Given the description of an element on the screen output the (x, y) to click on. 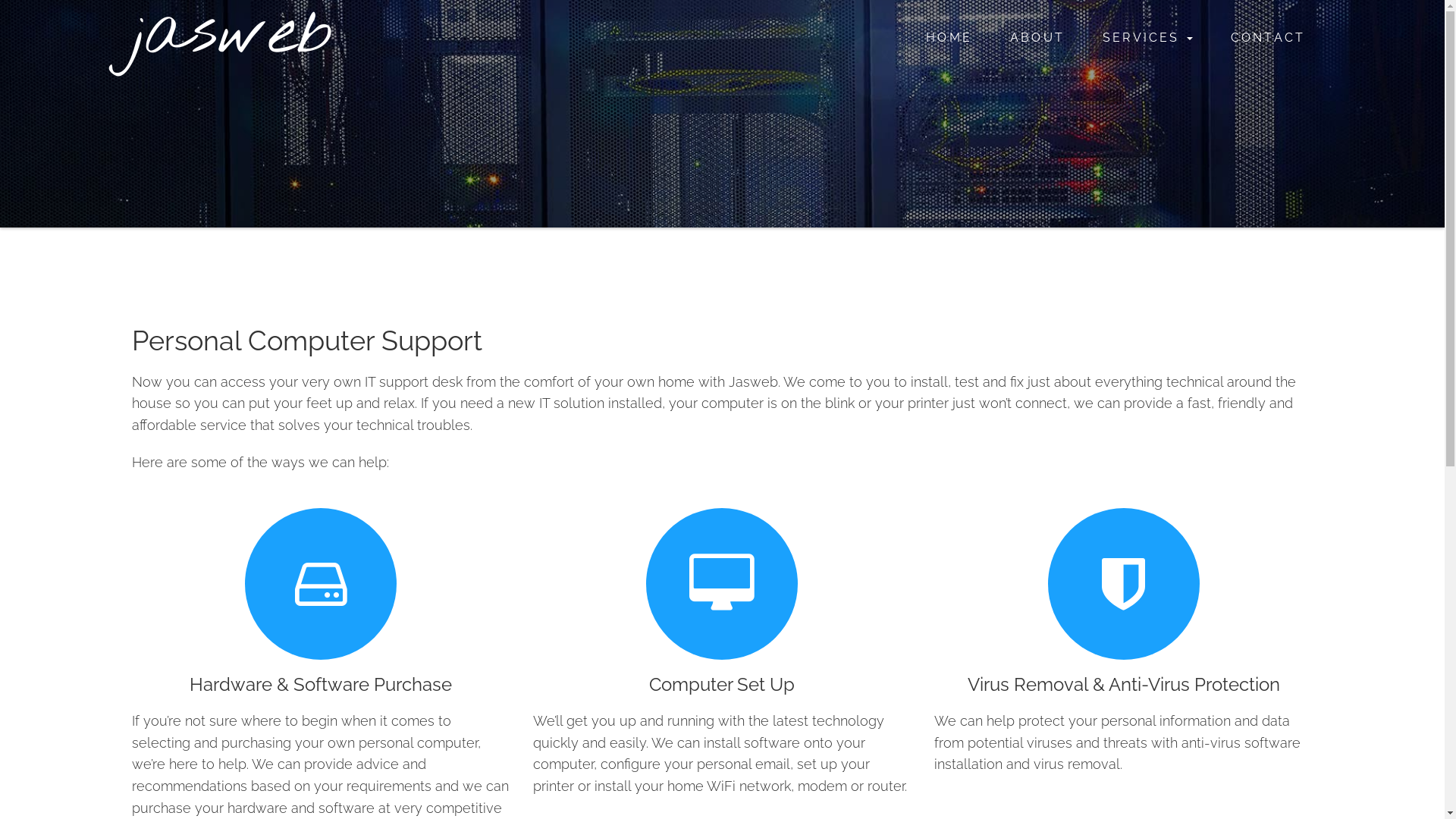
CONTACT Element type: text (1267, 37)
HOME Element type: text (948, 37)
ABOUT Element type: text (1037, 37)
jasweb Element type: text (232, 34)
SERVICES Element type: text (1147, 37)
